Given the description of an element on the screen output the (x, y) to click on. 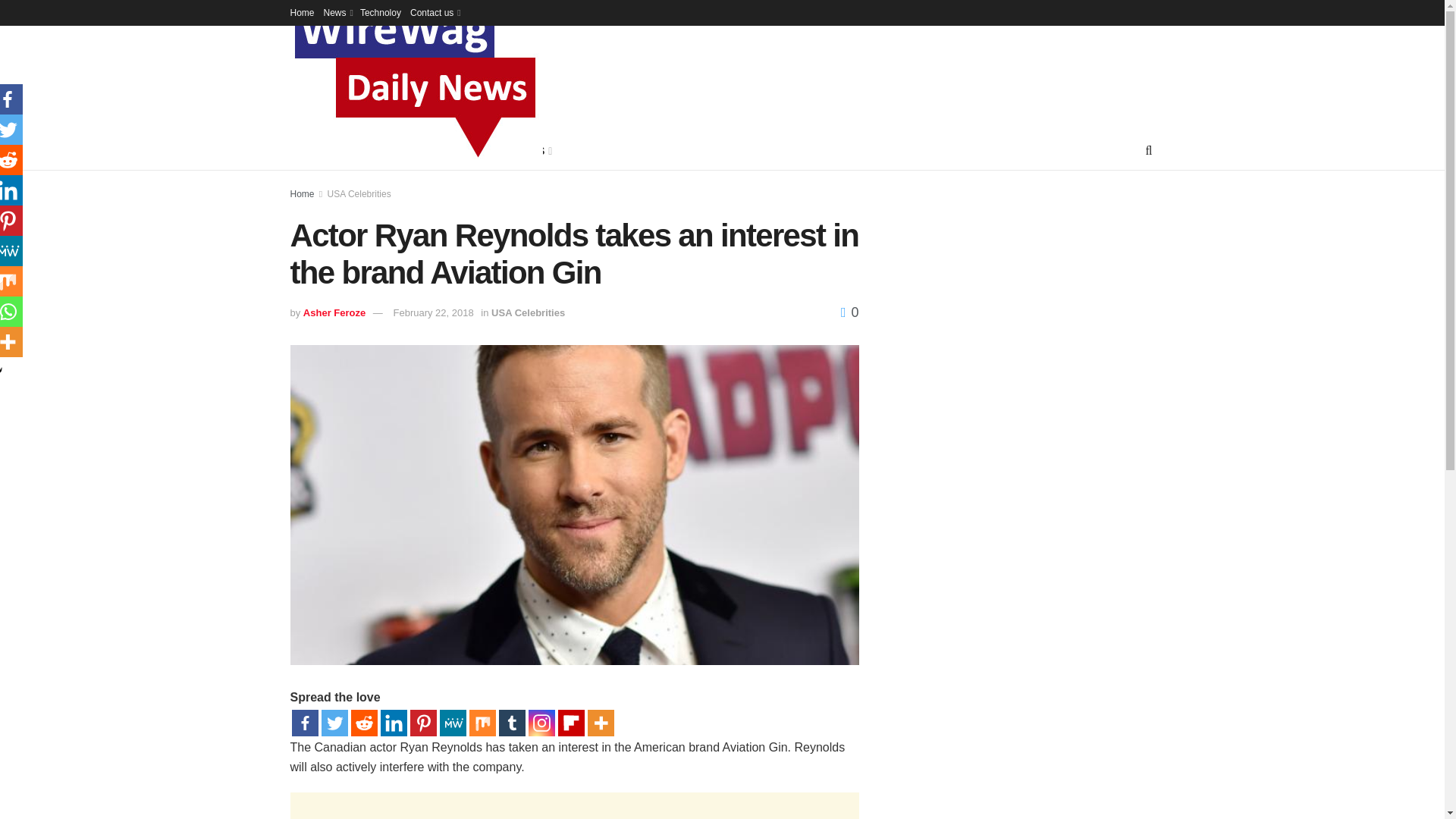
NEWS (356, 150)
Home (301, 12)
Mix (481, 723)
MeWe (452, 723)
Facebook (304, 723)
Flipboard (571, 723)
Pinterest (422, 723)
TECHNOLOY (426, 150)
Tumblr (512, 723)
Twitter (334, 723)
HOME (305, 150)
More (599, 723)
News (336, 12)
Technoloy (380, 12)
Instagram (540, 723)
